Given the description of an element on the screen output the (x, y) to click on. 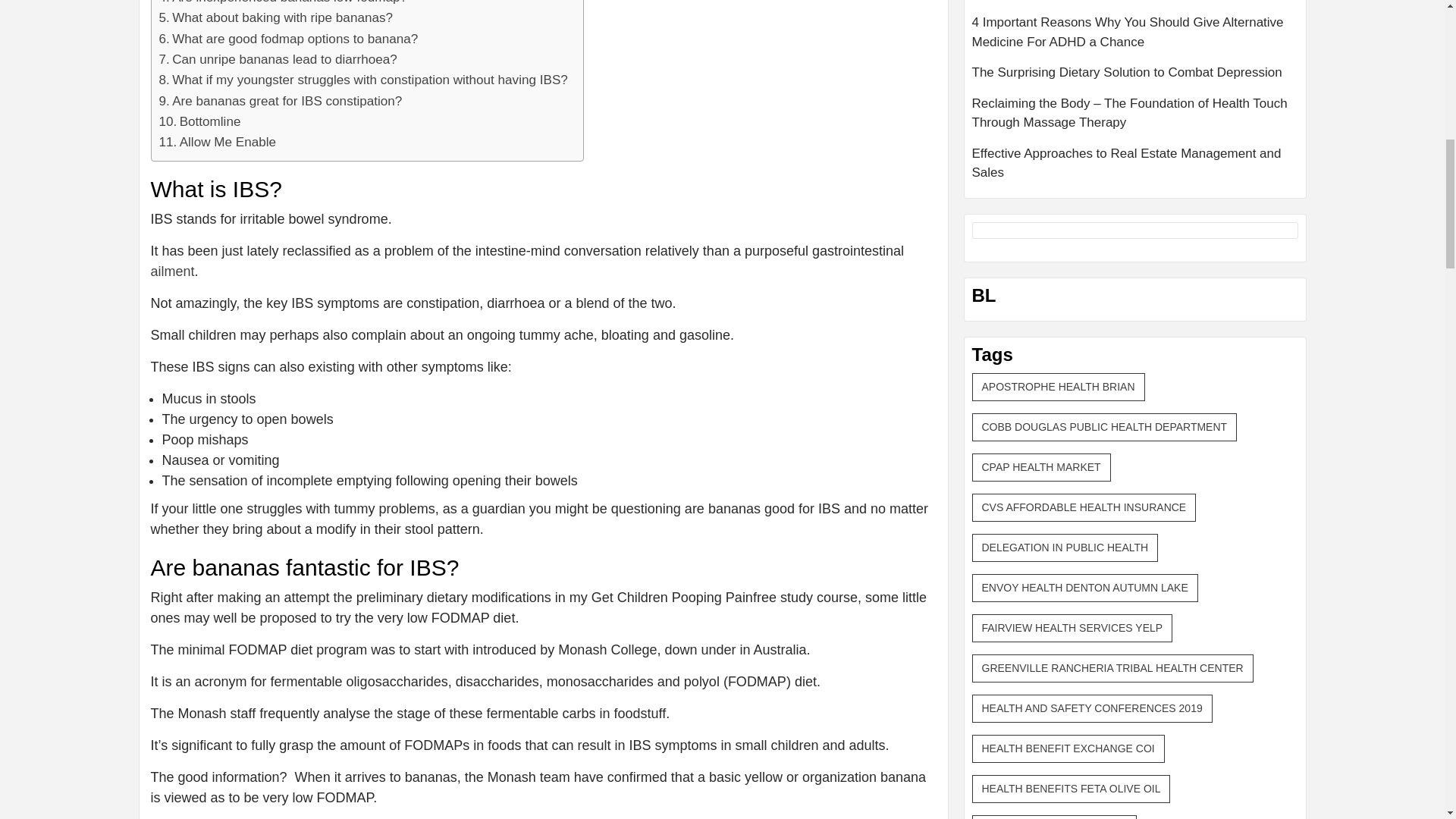
Allow Me Enable (217, 141)
Allow Me Enable (217, 141)
Can unripe bananas lead to diarrhoea? (277, 59)
Are inexperienced bananas low fodmap? (282, 3)
Are bananas great for IBS constipation? (280, 100)
Are bananas great for IBS constipation? (280, 100)
What are good fodmap options to banana? (288, 38)
Bottomline (199, 121)
Can unripe bananas lead to diarrhoea? (277, 59)
Bottomline (199, 121)
What are good fodmap options to banana? (288, 38)
ailment (171, 271)
What about baking with ripe bananas? (275, 17)
What about baking with ripe bananas? (275, 17)
